Given the description of an element on the screen output the (x, y) to click on. 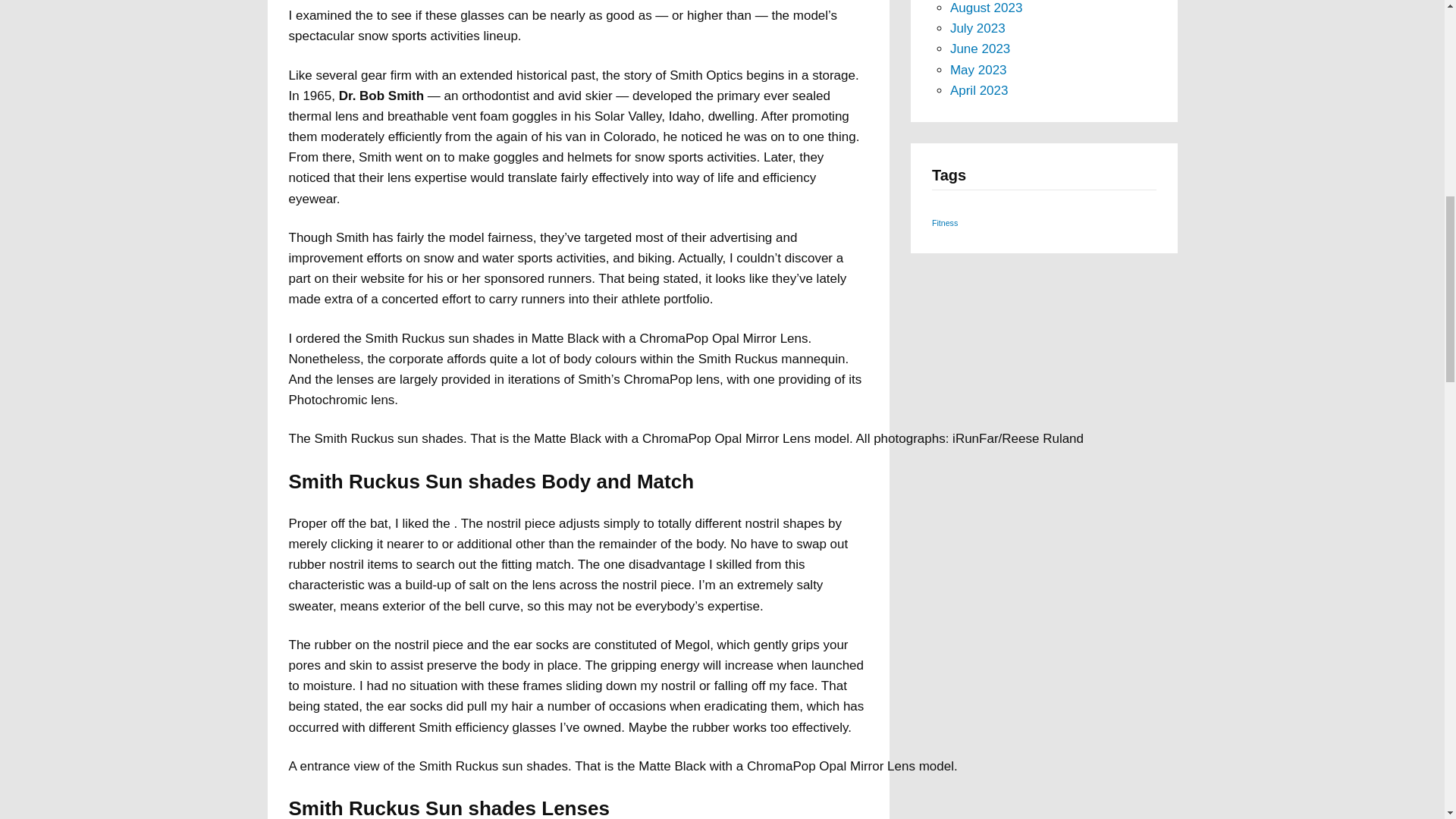
August 2023 (986, 7)
June 2023 (980, 48)
May 2023 (978, 69)
April 2023 (979, 90)
Fitness (944, 223)
July 2023 (978, 28)
